Given the description of an element on the screen output the (x, y) to click on. 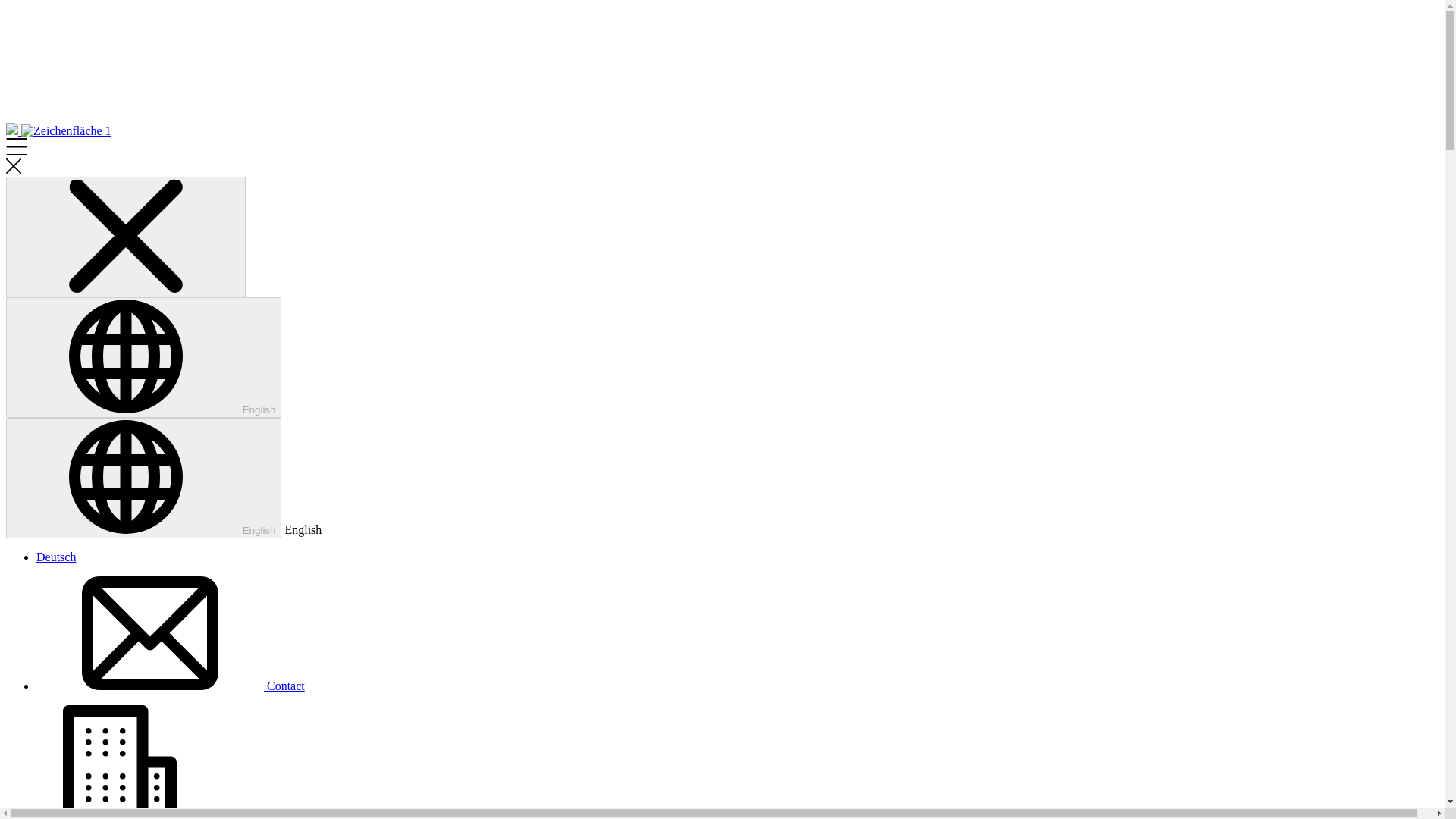
Contact (170, 685)
English (143, 477)
Corporation (150, 813)
Deutsch (55, 556)
English (143, 357)
